Given the description of an element on the screen output the (x, y) to click on. 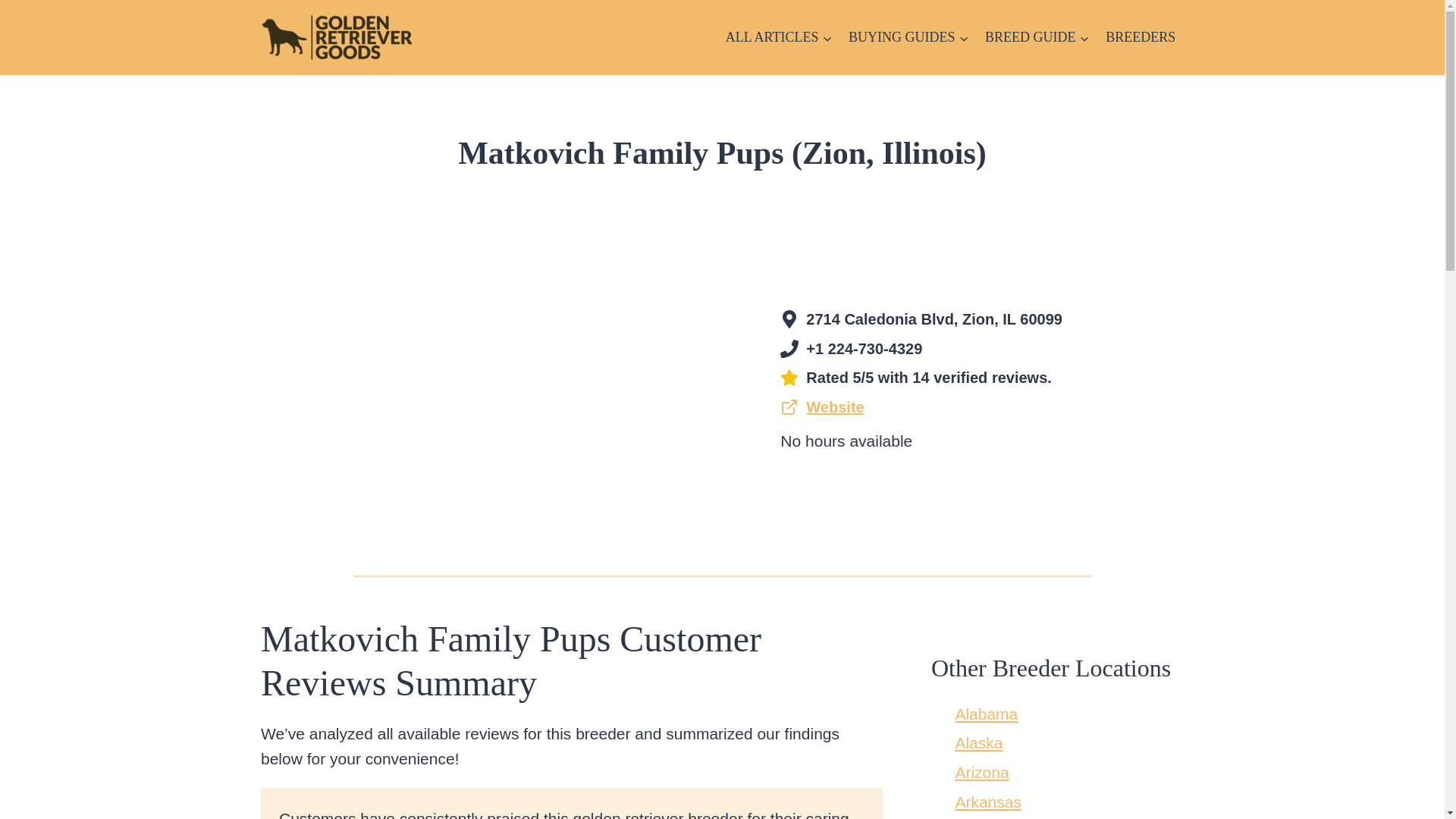
Alabama (986, 713)
BREEDERS (1140, 37)
Website (821, 407)
BUYING GUIDES (908, 37)
Arkansas (988, 801)
ALL ARTICLES (778, 37)
BREED GUIDE (1036, 37)
Alaska (979, 742)
Arizona (982, 772)
